Given the description of an element on the screen output the (x, y) to click on. 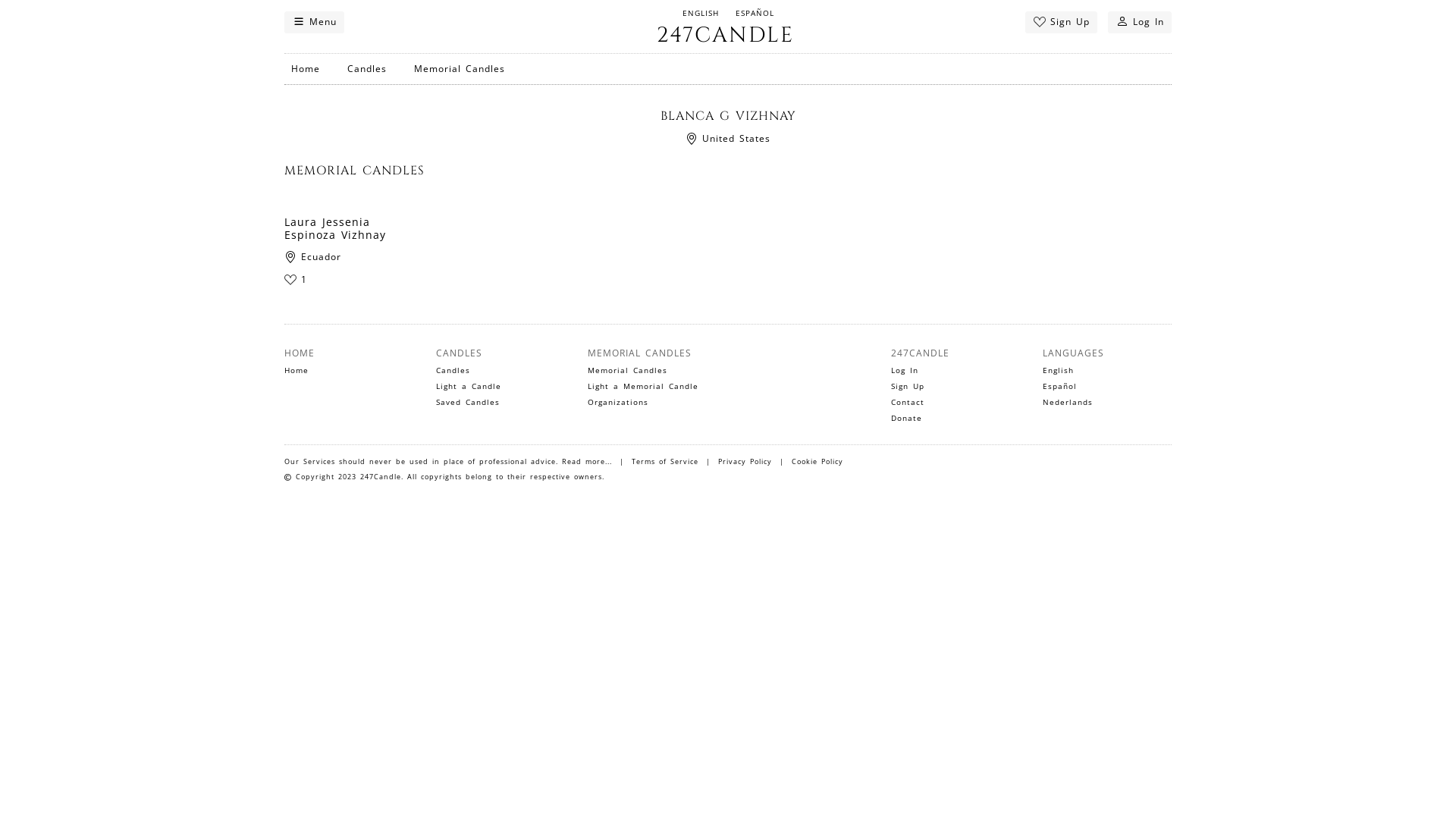
Memorial Candles Element type: text (458, 68)
Organizations Element type: text (617, 401)
ENGLISH Element type: text (700, 12)
Log In Element type: text (1139, 22)
Terms of Service Element type: text (664, 461)
Home Element type: text (296, 370)
Memorial Candles Element type: text (627, 370)
Contact Element type: text (907, 401)
Sign Up Element type: text (907, 386)
Light a Memorial Candle Element type: text (642, 386)
Candles Element type: text (453, 370)
Laura Jessenia Espinoza Vizhnay
Ecuador
1 Element type: text (348, 262)
English Element type: text (1057, 370)
Donate Element type: text (906, 417)
Sign Up Element type: text (1061, 22)
Candles Element type: text (366, 68)
Home Element type: text (304, 68)
Saved Candles Element type: text (467, 401)
Log In Element type: text (904, 370)
Cookie Policy Element type: text (817, 461)
247CANDLE Element type: text (724, 35)
Light a Candle Element type: text (468, 386)
Nederlands Element type: text (1067, 401)
Privacy Policy Element type: text (744, 461)
Menu Element type: text (314, 22)
